Given the description of an element on the screen output the (x, y) to click on. 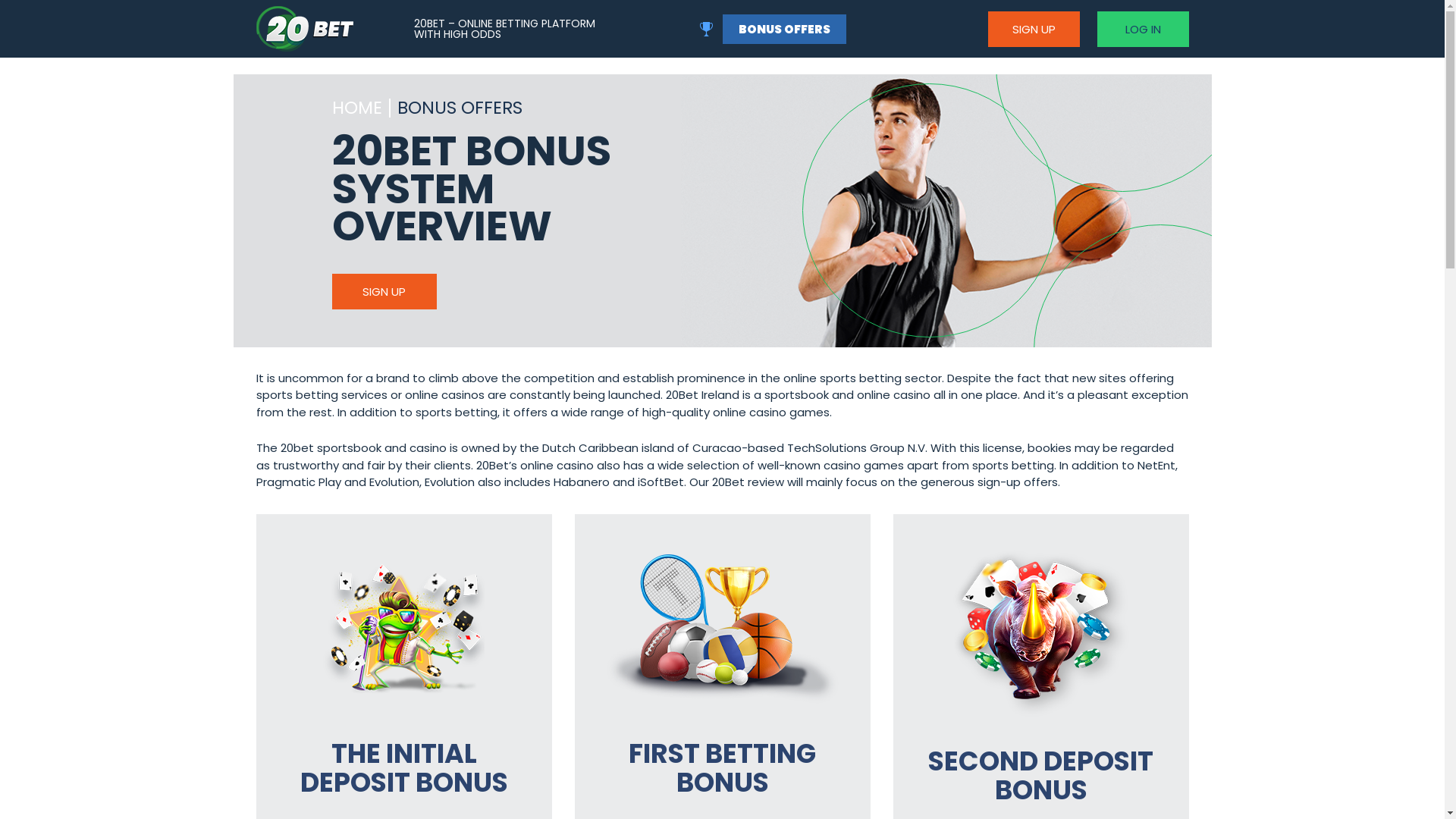
SIGN UP Element type: text (384, 290)
First Deposit Bonus Element type: hover (403, 628)
SIGN UP Element type: text (1033, 28)
LOG IN Element type: text (1142, 28)
BONUS OFFERS Element type: text (783, 28)
20Bet Casino Element type: hover (945, 235)
Second Deposit Bonus Element type: hover (1040, 632)
20Bet Ireland Element type: hover (304, 28)
First Betting Bonus Element type: hover (722, 628)
HOME Element type: text (357, 109)
